Given the description of an element on the screen output the (x, y) to click on. 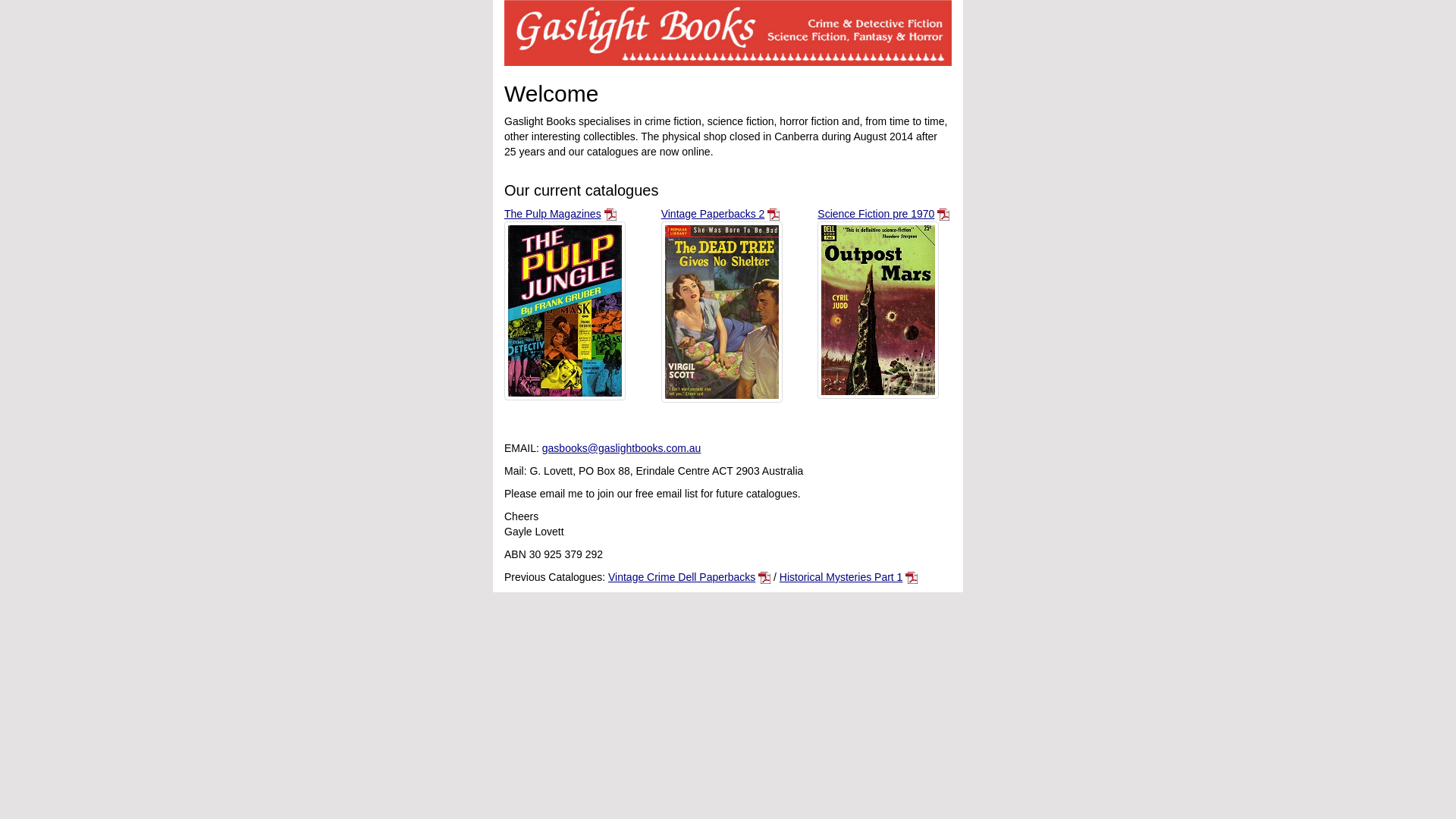
Historical Mysteries Part 1 Element type: text (841, 577)
Vintage Crime Dell Paperbacks Element type: text (681, 577)
The Pulp Magazines Element type: text (552, 213)
Vintage Paperbacks 2 Element type: text (713, 213)
gasbooks@gaslightbooks.com.au Element type: text (621, 448)
Science Fiction pre 1970 Element type: text (875, 213)
